Given the description of an element on the screen output the (x, y) to click on. 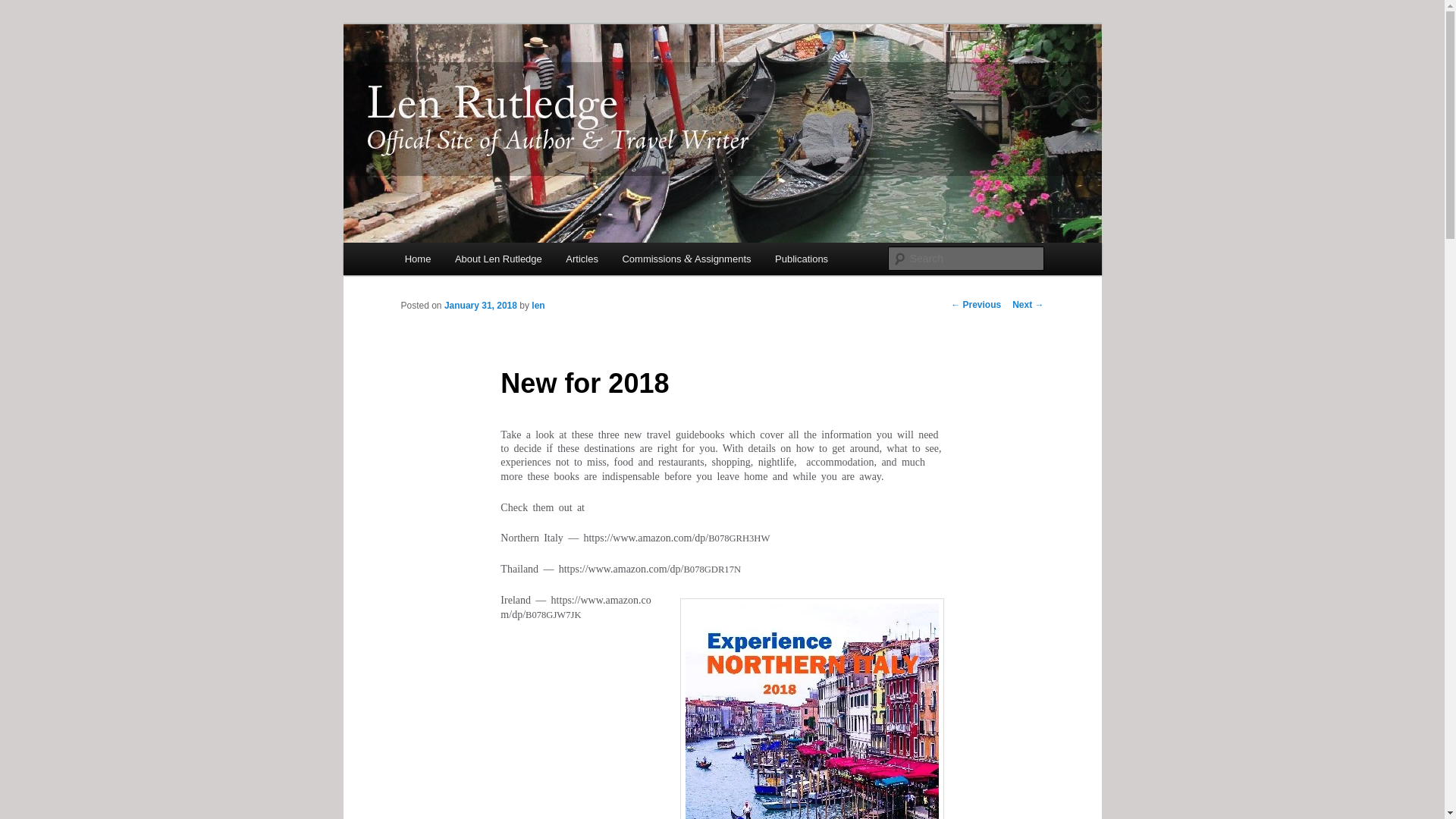
January 31, 2018 (480, 305)
About Len Rutledge (497, 258)
Articles (582, 258)
Home (417, 258)
7:10 pm (480, 305)
Publications (801, 258)
len (537, 305)
Search (24, 8)
View all posts by len (537, 305)
